Given the description of an element on the screen output the (x, y) to click on. 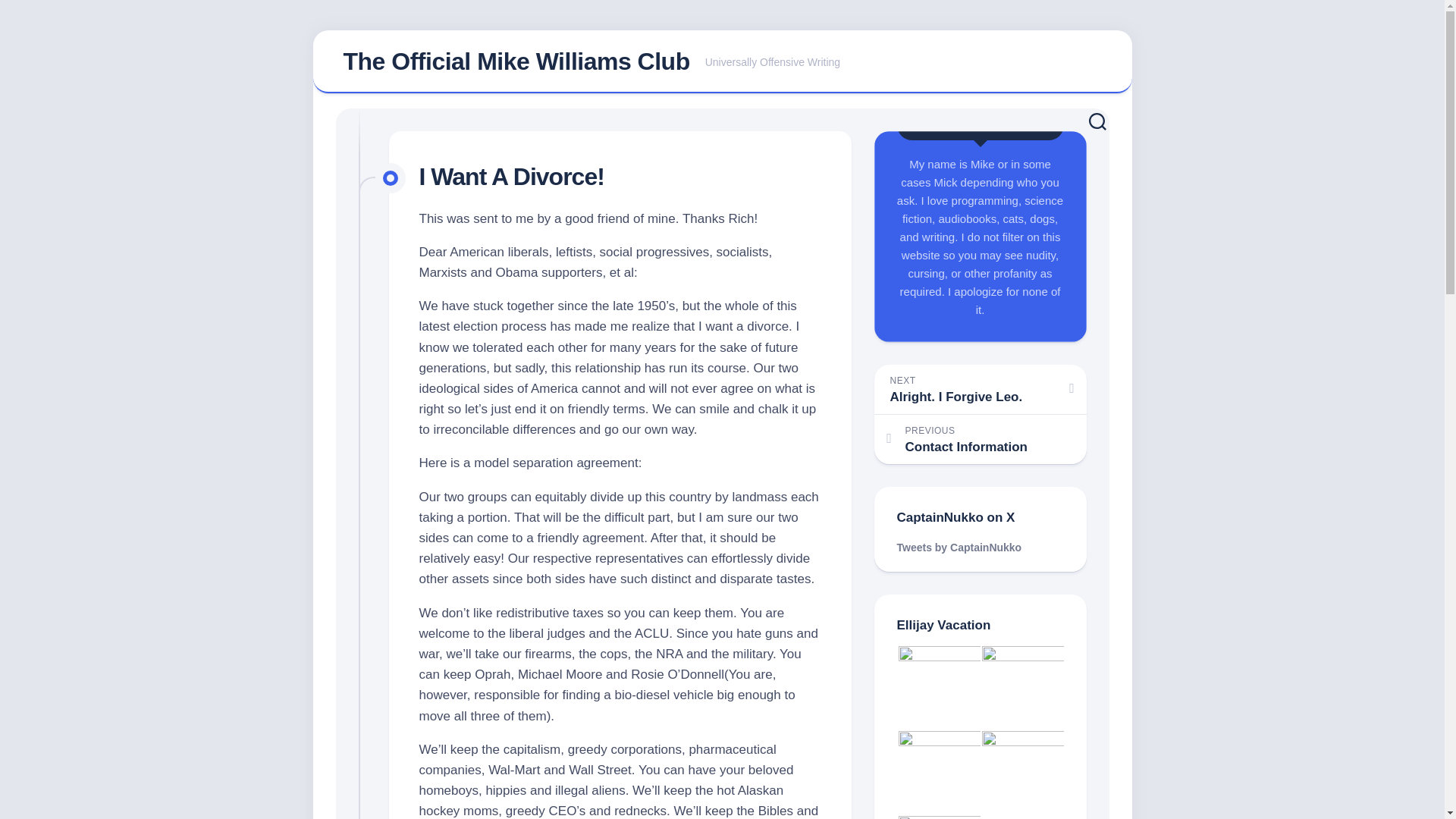
Tweets by CaptainNukko (979, 389)
The Official Mike Williams Club (959, 547)
